Given the description of an element on the screen output the (x, y) to click on. 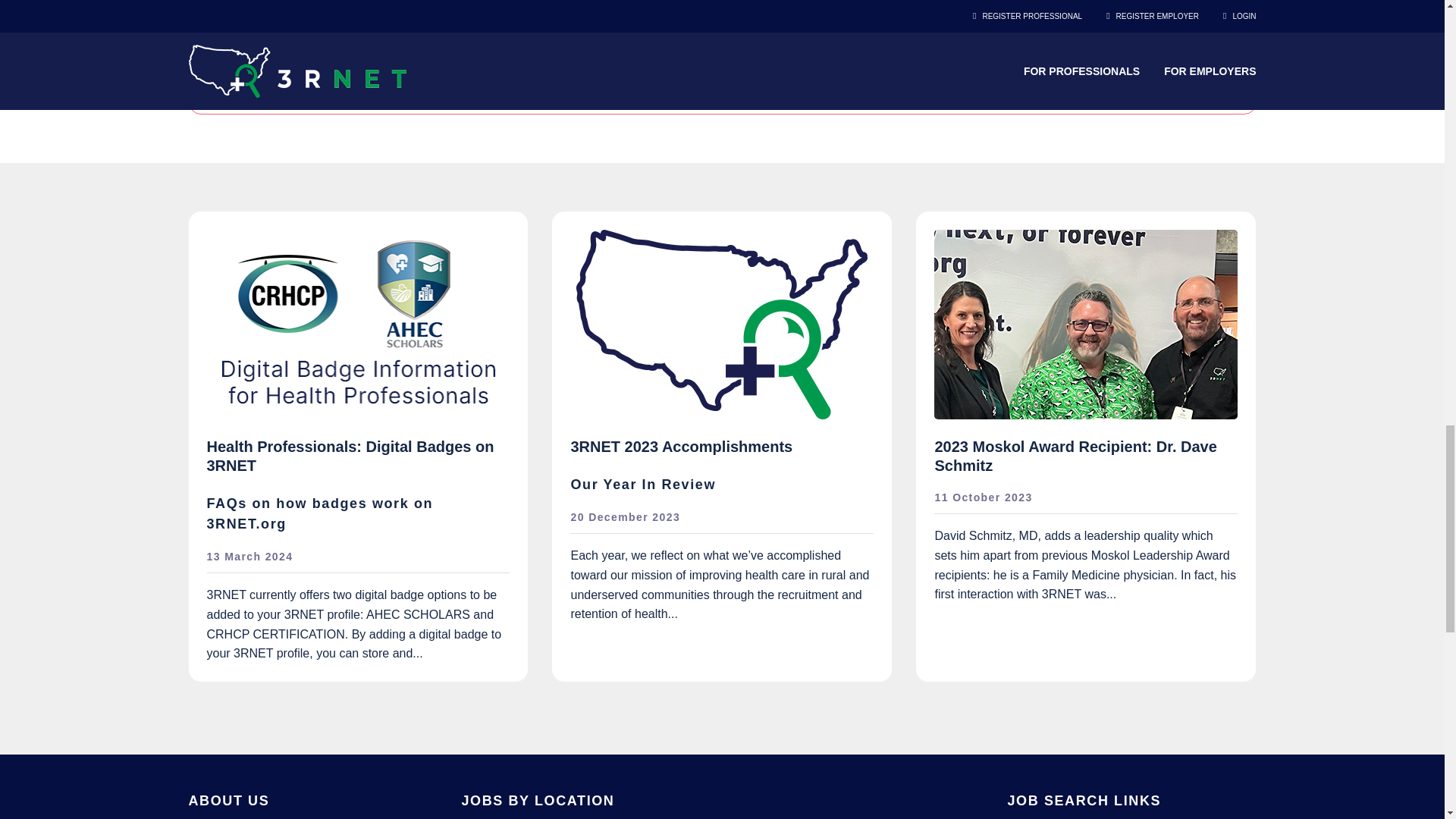
REGISTER FOR FREE (721, 50)
